Given the description of an element on the screen output the (x, y) to click on. 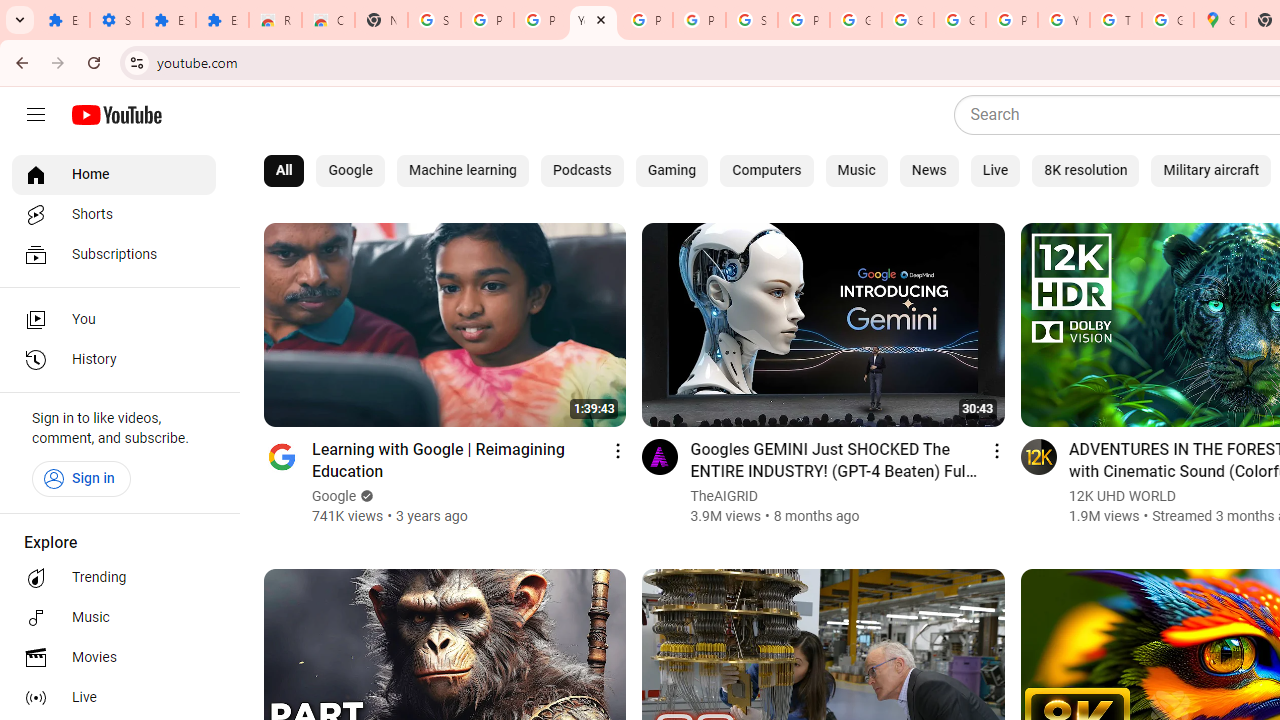
Extensions (222, 20)
Home (113, 174)
Sign in - Google Accounts (751, 20)
Google (350, 170)
New Tab (381, 20)
Google Account (855, 20)
History (113, 359)
Extensions (63, 20)
Live (995, 170)
Gaming (671, 170)
